Given the description of an element on the screen output the (x, y) to click on. 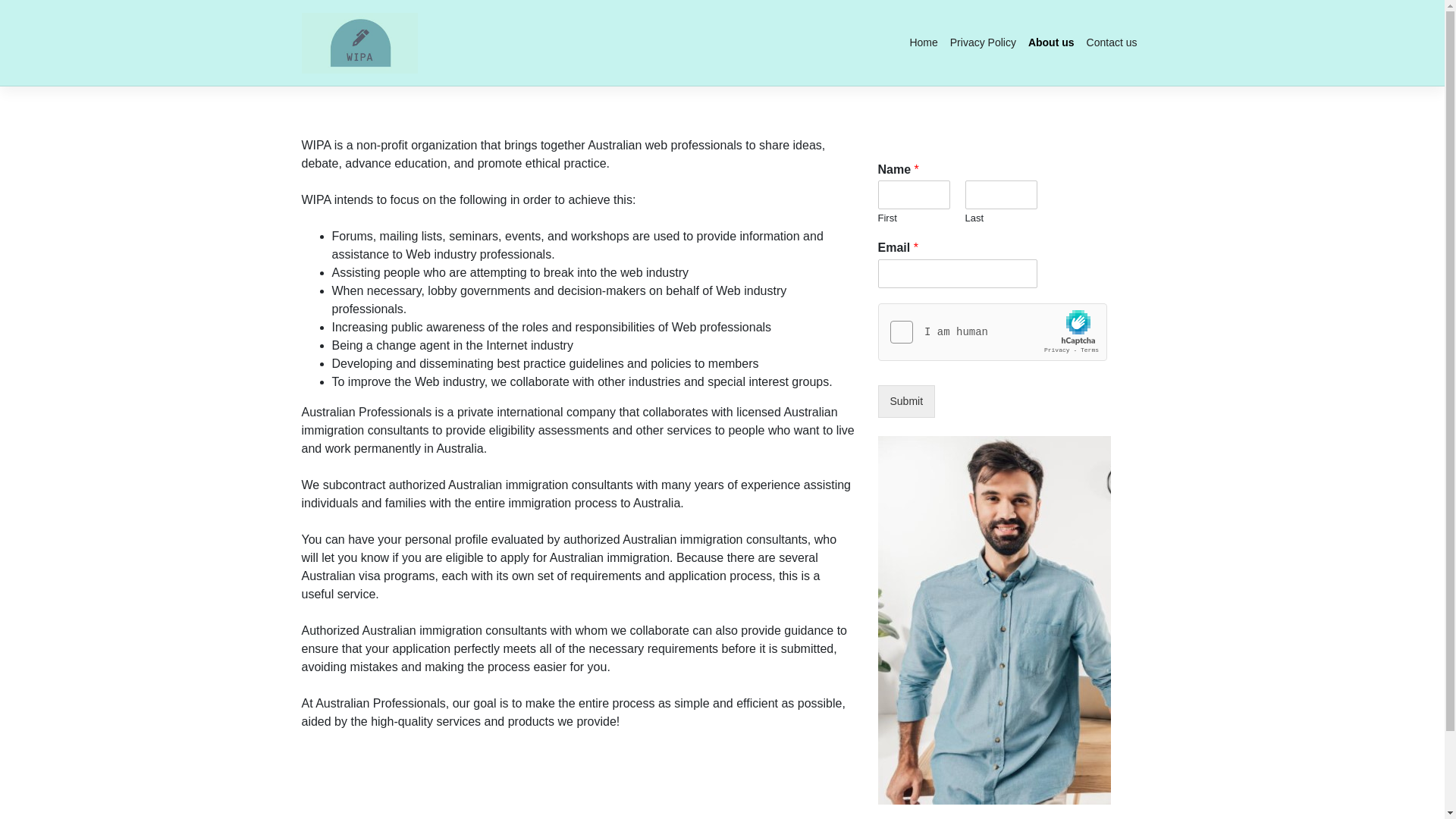
Home Element type: text (923, 42)
Widget containing checkbox for hCaptcha security challenge Element type: hover (992, 332)
Contact us Element type: text (1111, 42)
Submit Element type: text (906, 401)
Privacy Policy Element type: text (983, 42)
About us Element type: text (1051, 42)
